Given the description of an element on the screen output the (x, y) to click on. 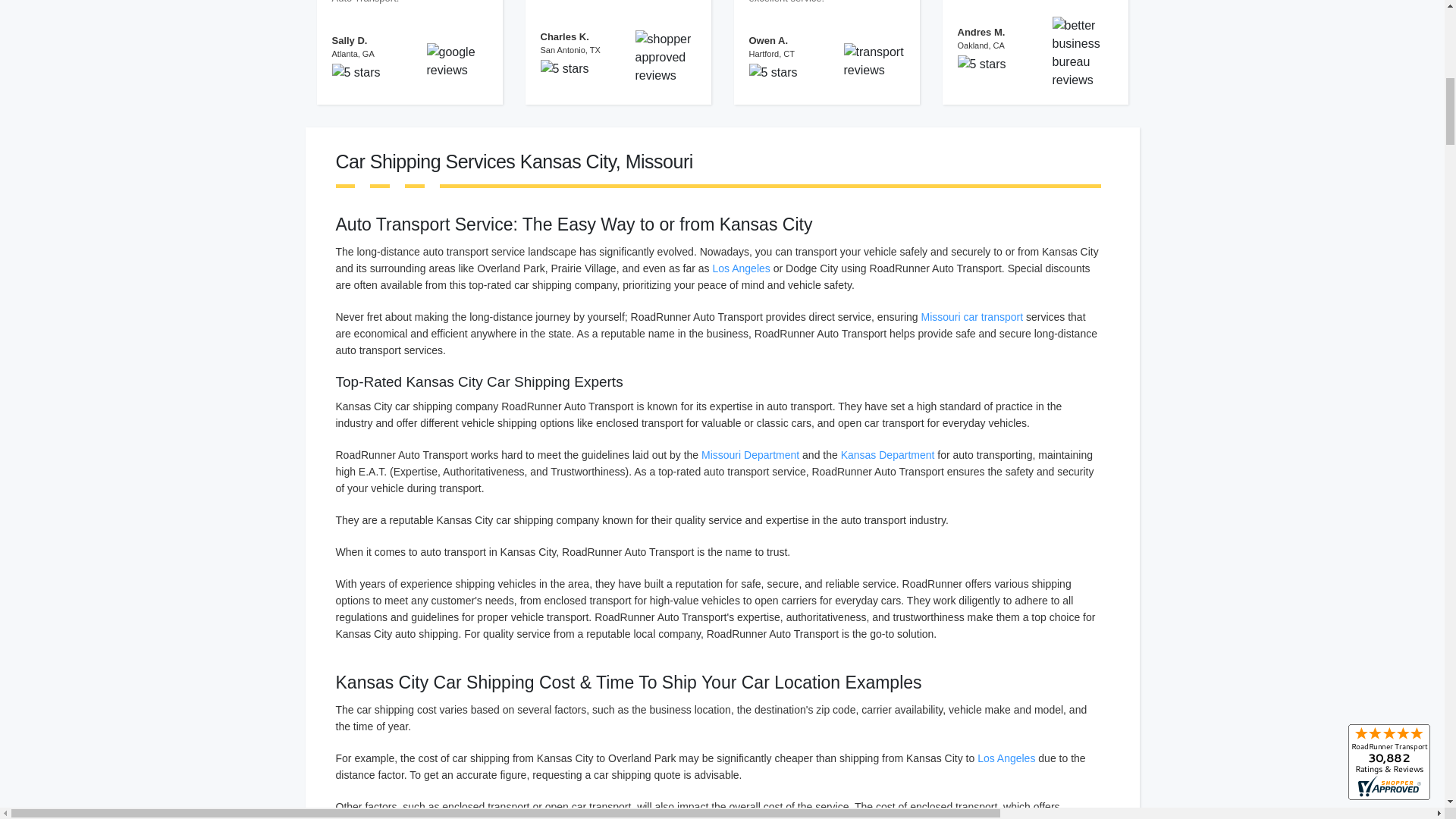
Shopper Approved Reviews (665, 55)
5 stars (772, 80)
Transport Reviews (873, 59)
5 stars (356, 80)
Better Business Bureau Reviews (1082, 51)
5 stars (564, 76)
Google Reviews (456, 59)
5 stars (981, 71)
